Given the description of an element on the screen output the (x, y) to click on. 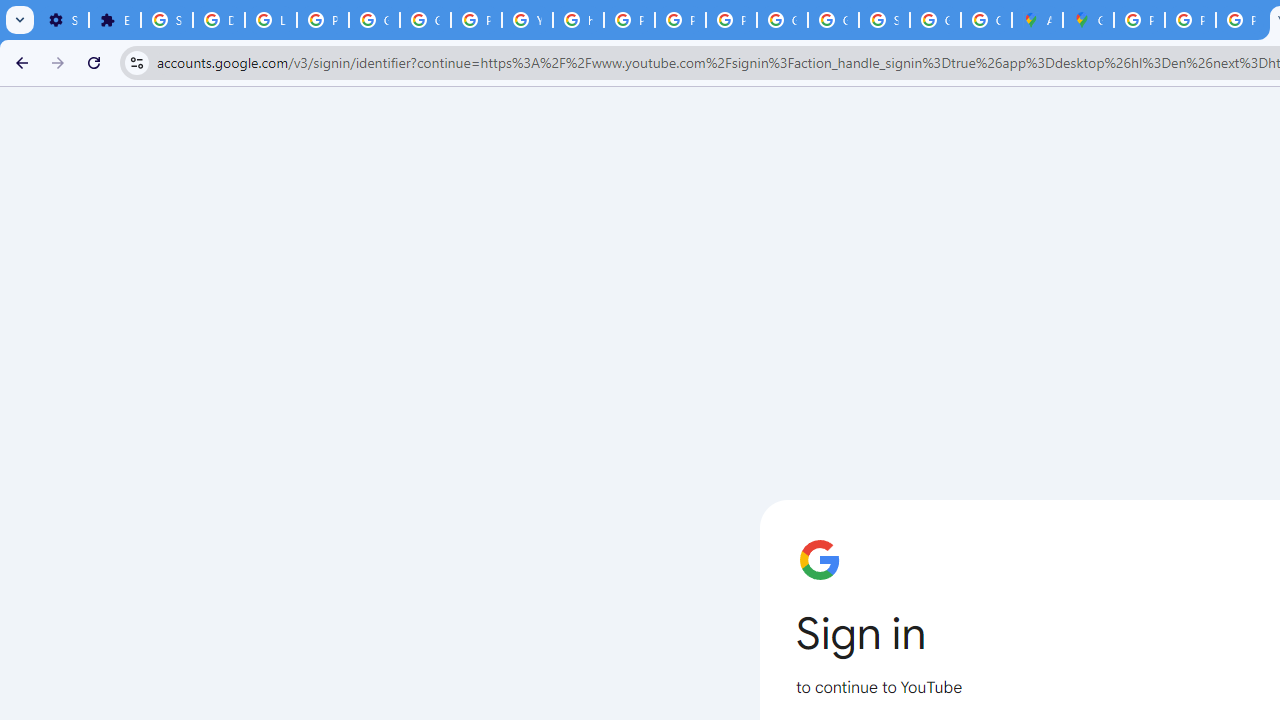
Privacy Help Center - Policies Help (629, 20)
Policy Accountability and Transparency - Transparency Center (1138, 20)
Privacy Help Center - Policies Help (1189, 20)
Settings - On startup (63, 20)
https://scholar.google.com/ (578, 20)
YouTube (526, 20)
Google Account Help (374, 20)
Google Maps (1087, 20)
Sign in - Google Accounts (166, 20)
Create your Google Account (986, 20)
Privacy Help Center - Policies Help (1241, 20)
